Given the description of an element on the screen output the (x, y) to click on. 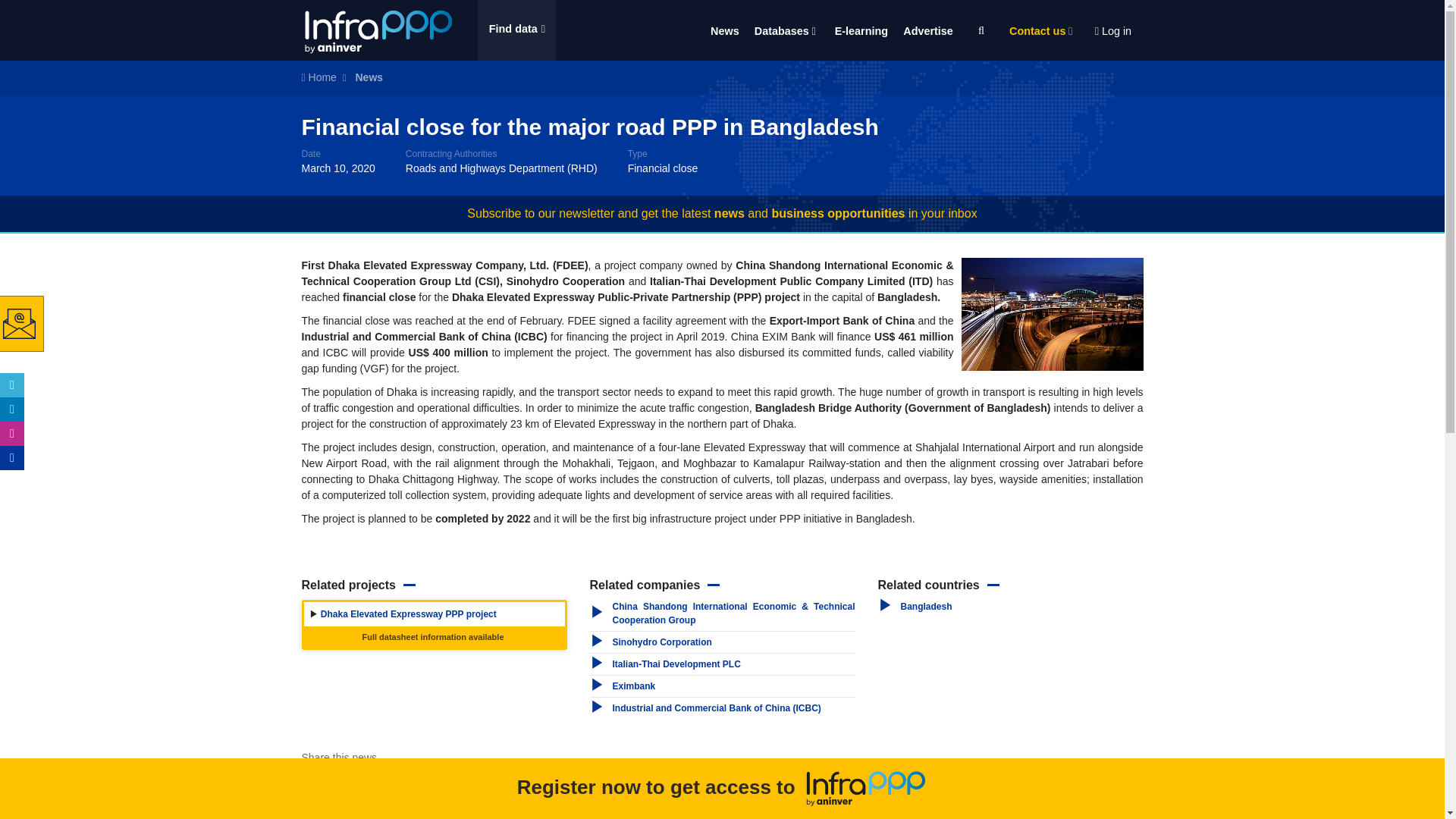
Find data (516, 30)
